Given the description of an element on the screen output the (x, y) to click on. 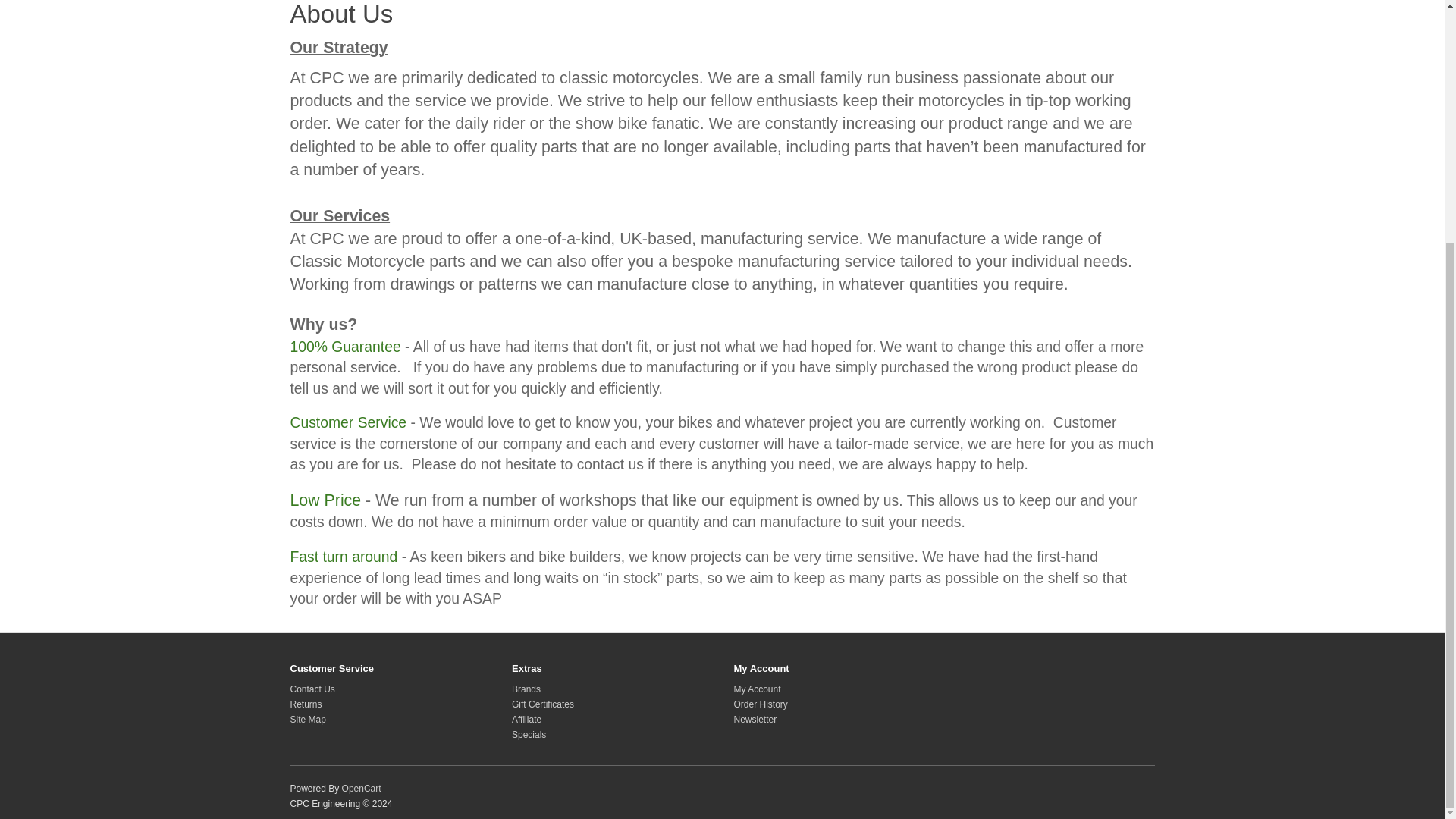
Site Map (306, 719)
Contact Us (311, 688)
Returns (305, 704)
Specials (529, 734)
Affiliate (526, 719)
Brands (526, 688)
Gift Certificates (542, 704)
